Given the description of an element on the screen output the (x, y) to click on. 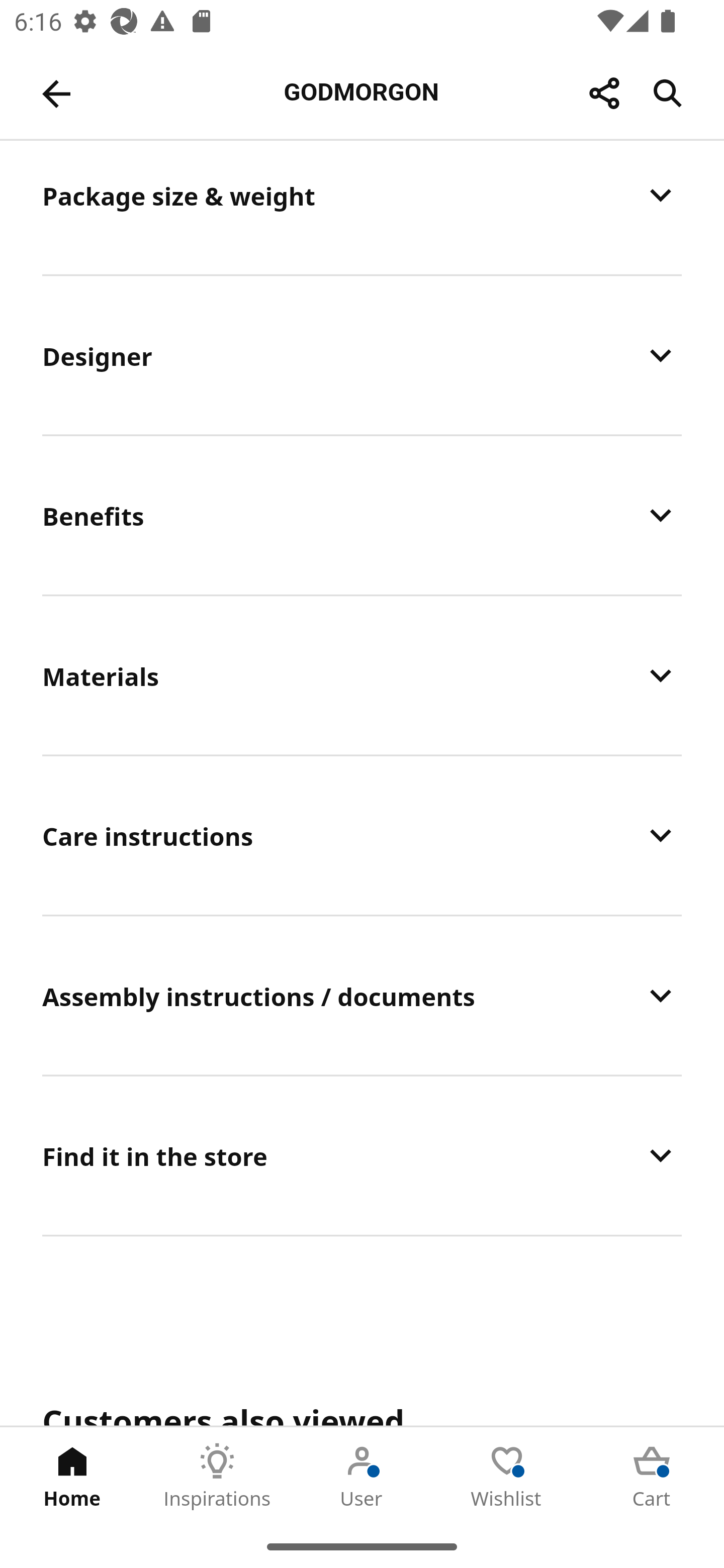
Package size & weight (361, 206)
Designer (361, 354)
Benefits (361, 514)
Materials (361, 674)
Care instructions (361, 834)
Assembly instructions / documents (361, 995)
Find it in the store (361, 1155)
Home
Tab 1 of 5 (72, 1476)
Inspirations
Tab 2 of 5 (216, 1476)
User
Tab 3 of 5 (361, 1476)
Wishlist
Tab 4 of 5 (506, 1476)
Cart
Tab 5 of 5 (651, 1476)
